Given the description of an element on the screen output the (x, y) to click on. 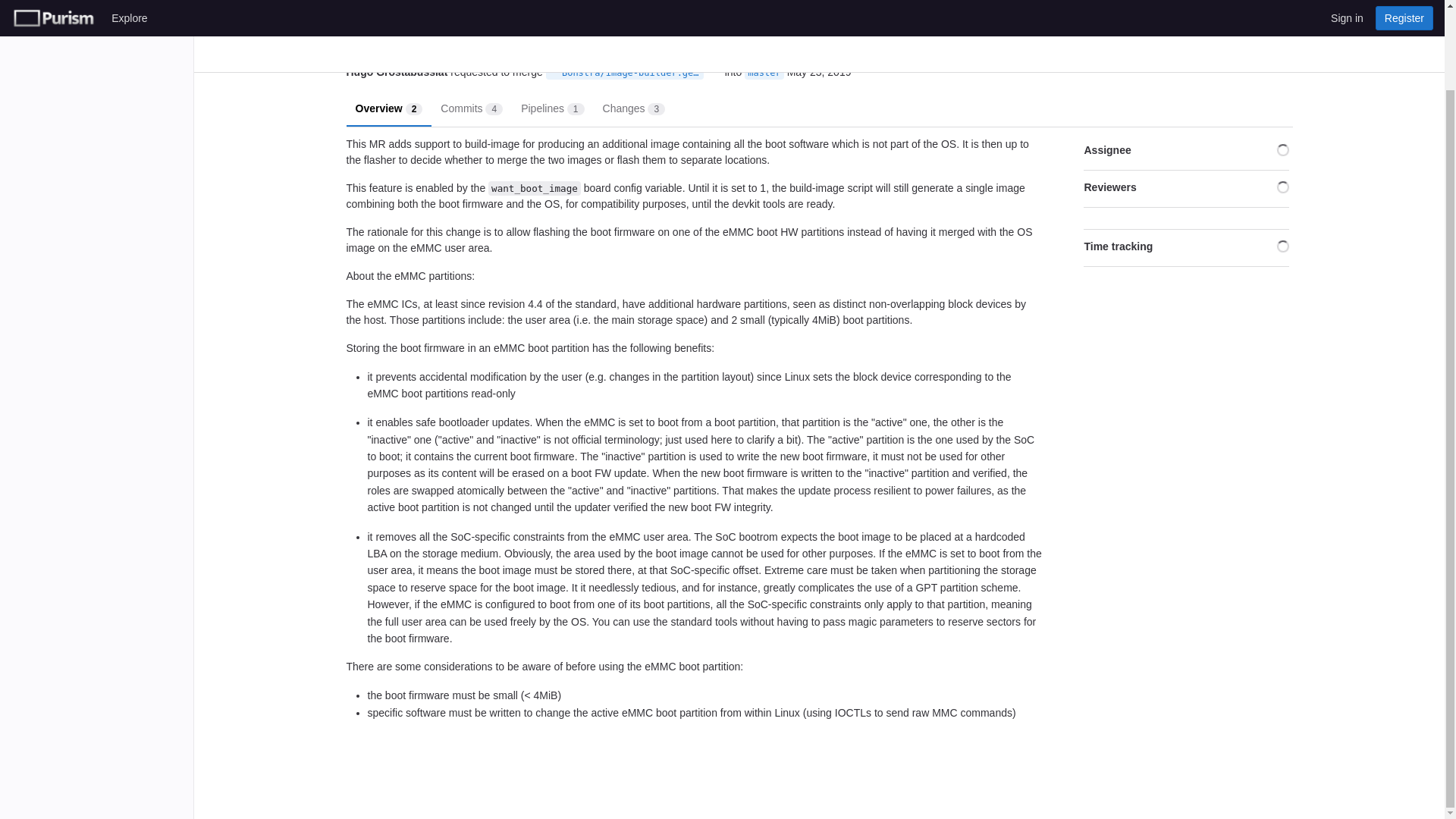
The source project is a fork (553, 72)
master (763, 72)
May 23, 2019 11:12pm (819, 72)
Hugo Grostabussiat (634, 108)
Code (471, 108)
master (388, 108)
